Given the description of an element on the screen output the (x, y) to click on. 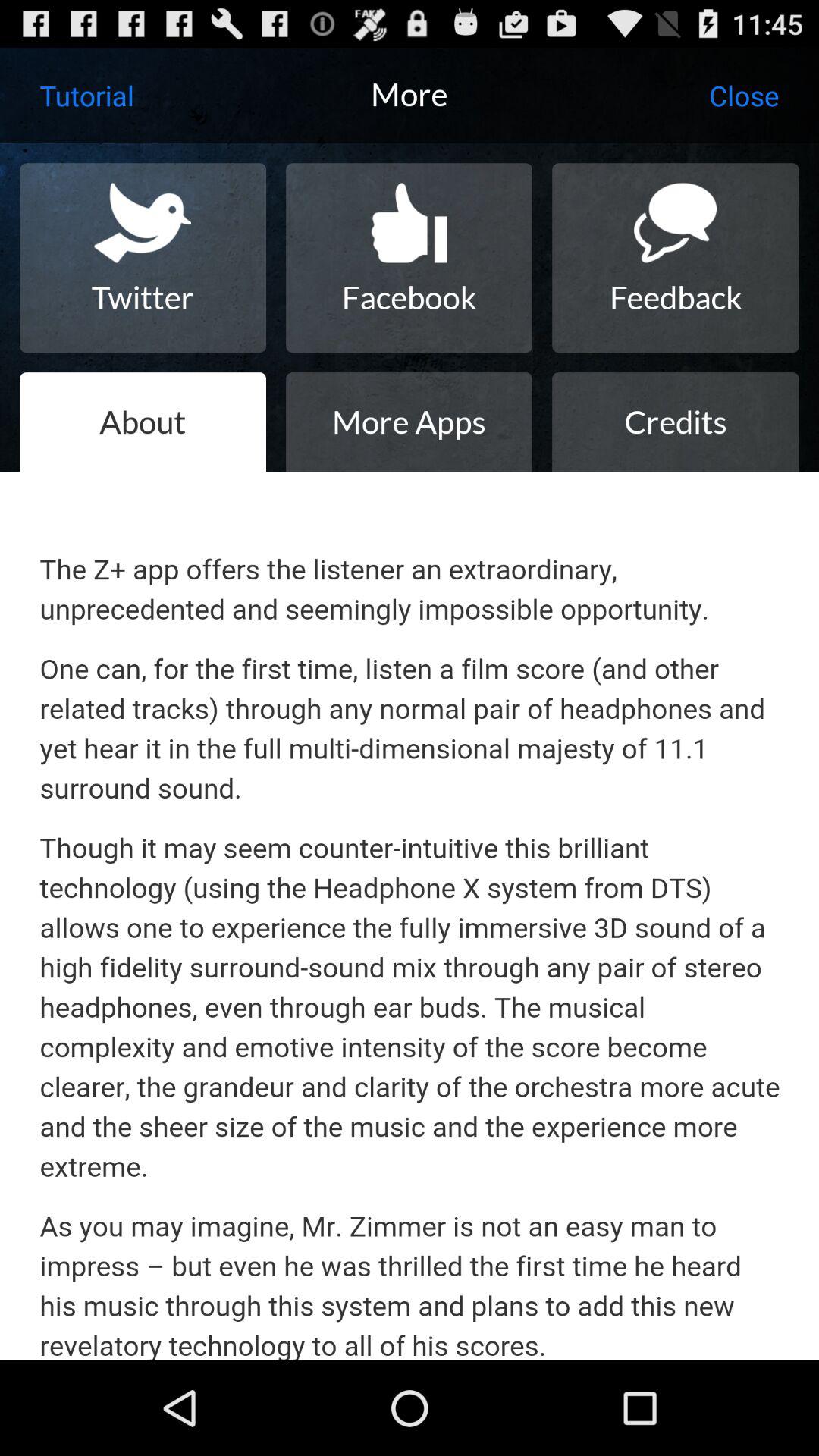
press icon to the right of twitter (409, 257)
